Given the description of an element on the screen output the (x, y) to click on. 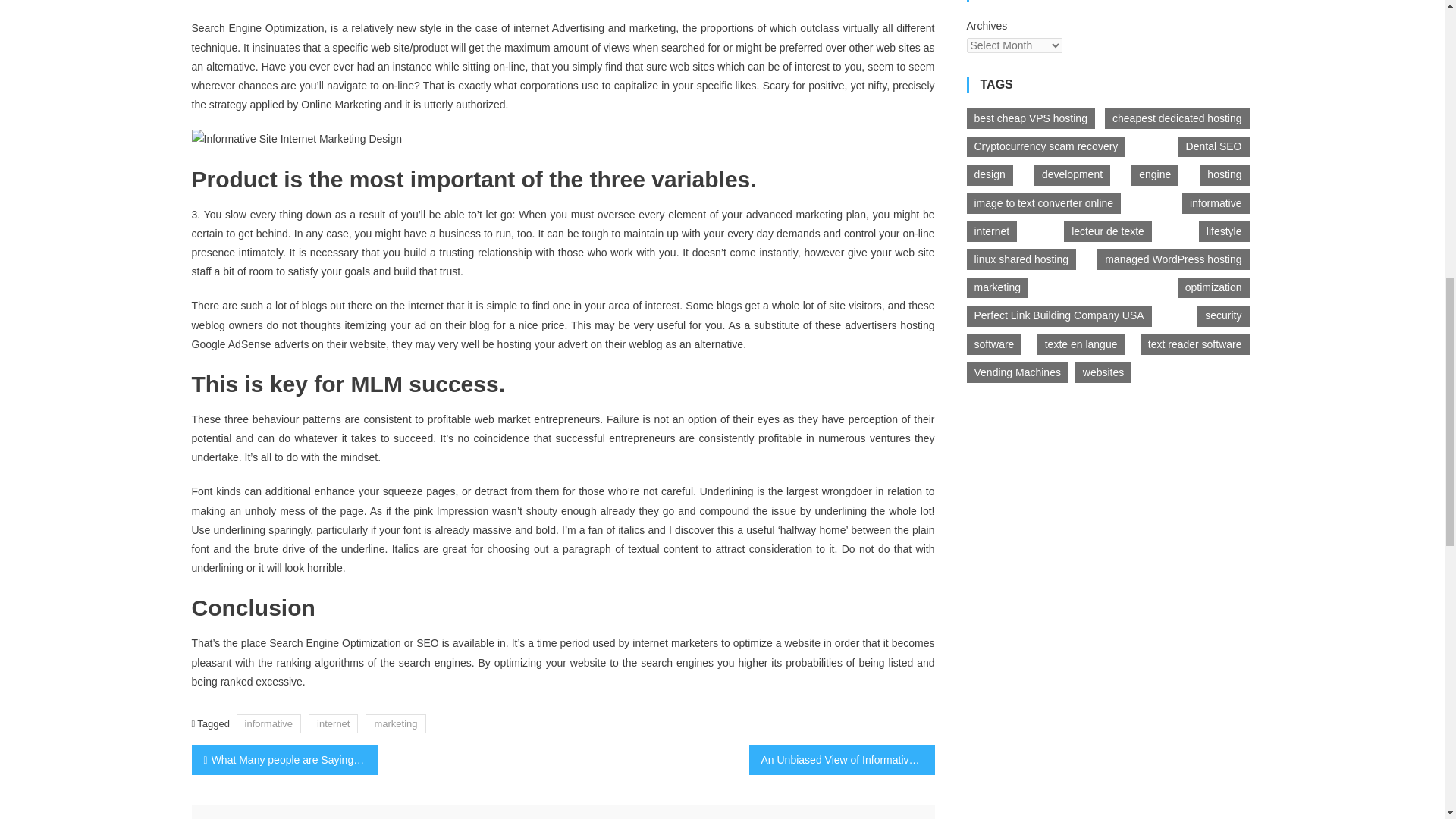
internet (333, 723)
marketing (395, 723)
informative (268, 723)
